Given the description of an element on the screen output the (x, y) to click on. 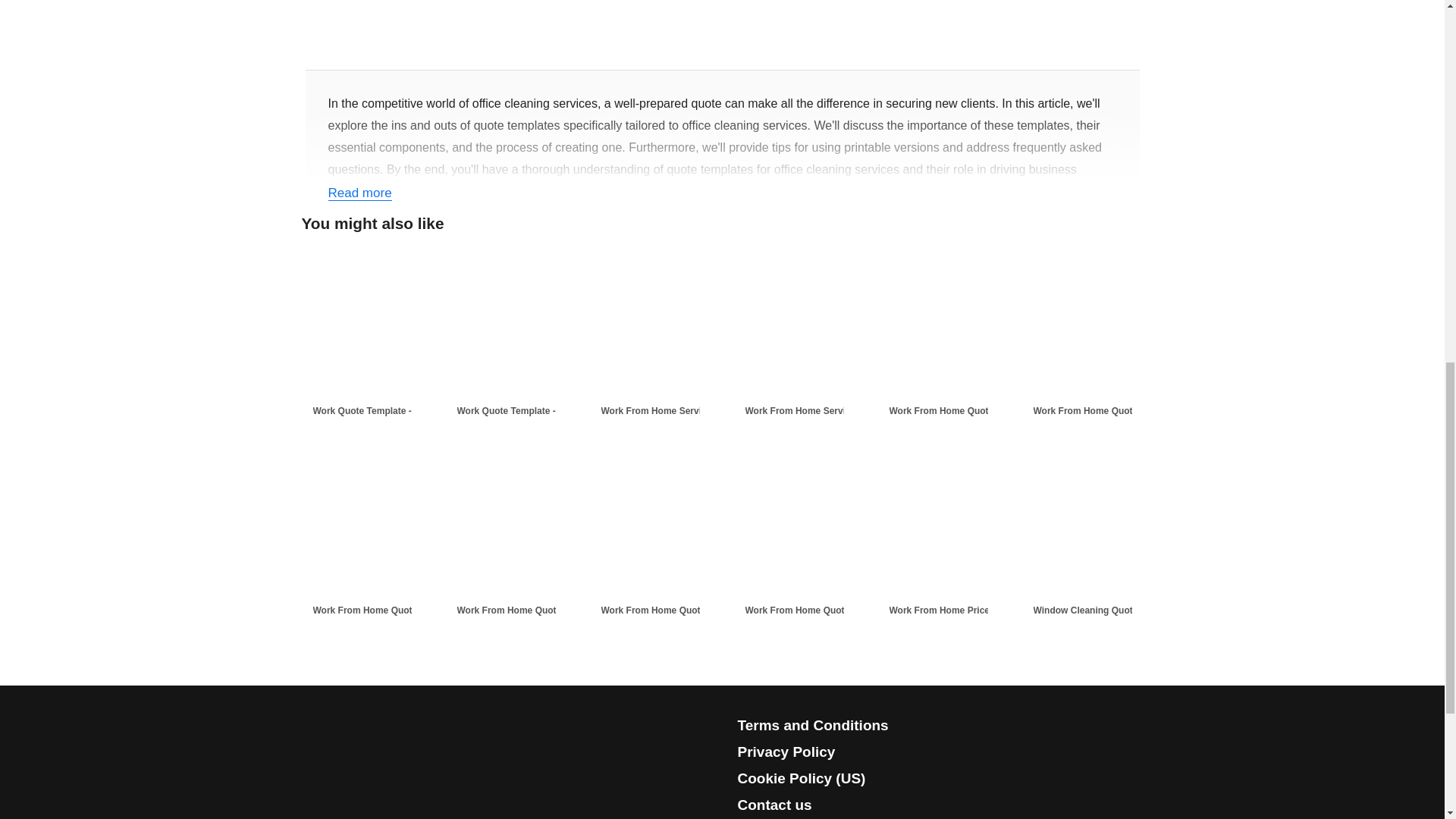
Work From Home Price Quote Template - 220922 - BRN (966, 610)
Work Quote Template - 220920 - PNK (534, 410)
Work From Home Service Quote Template - 220921 - GRN (822, 410)
Work From Home Quote Template - MGA (1110, 410)
Work From Home Quote Template - 220920 - GRY (534, 610)
Work From Home Quote Template - DGRN - 220915 (822, 610)
Work From Home Quote Template - GRN - 220915 (678, 610)
Work From Home Quote Template - BLK (390, 610)
Window Cleaning Quote Template - RED (1110, 610)
Work From Home Service Quote Template - DBRN - 220923 (678, 410)
